Given the description of an element on the screen output the (x, y) to click on. 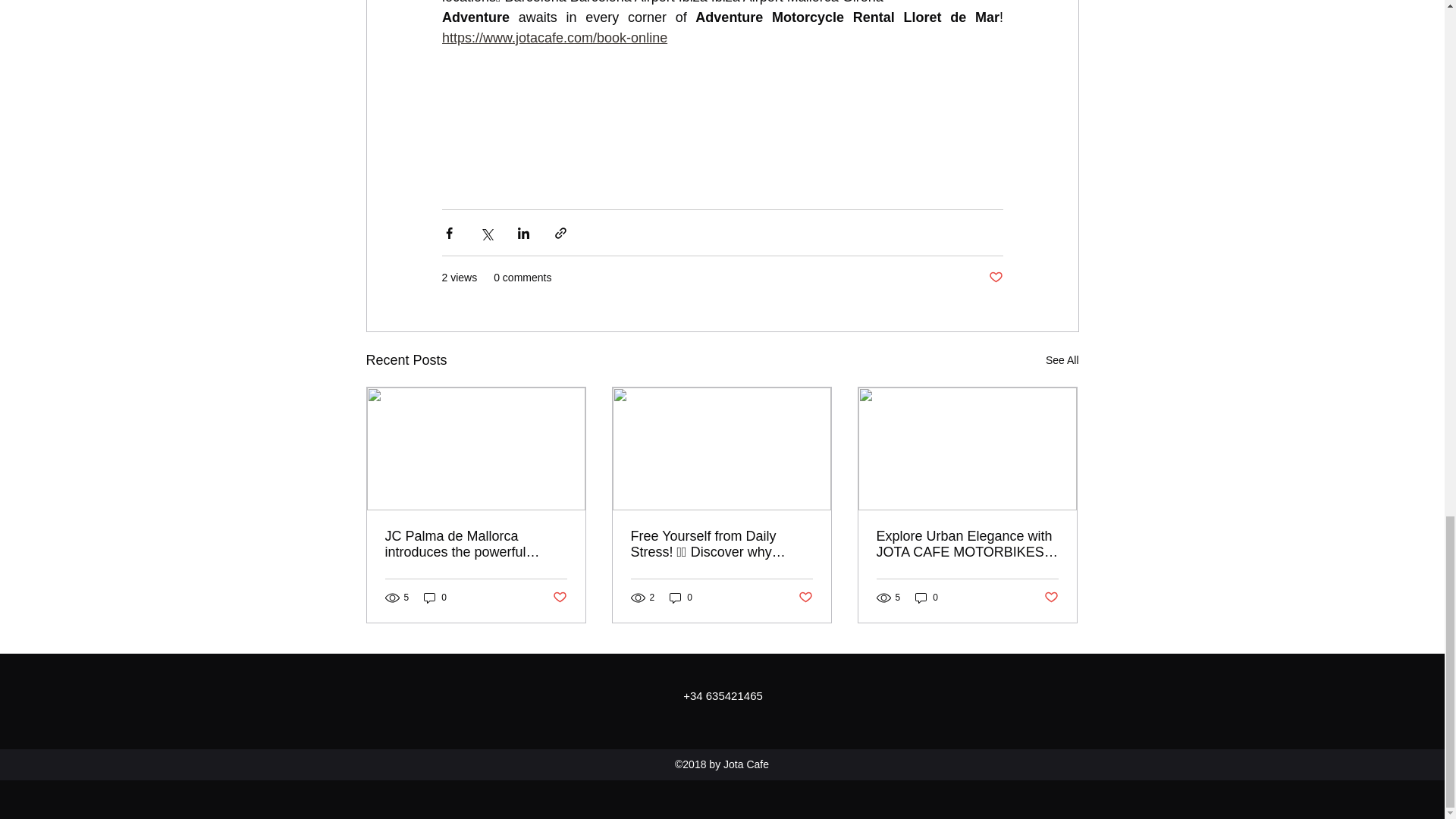
Post not marked as liked (558, 597)
0 (435, 597)
See All (1061, 360)
Post not marked as liked (995, 277)
